Given the description of an element on the screen output the (x, y) to click on. 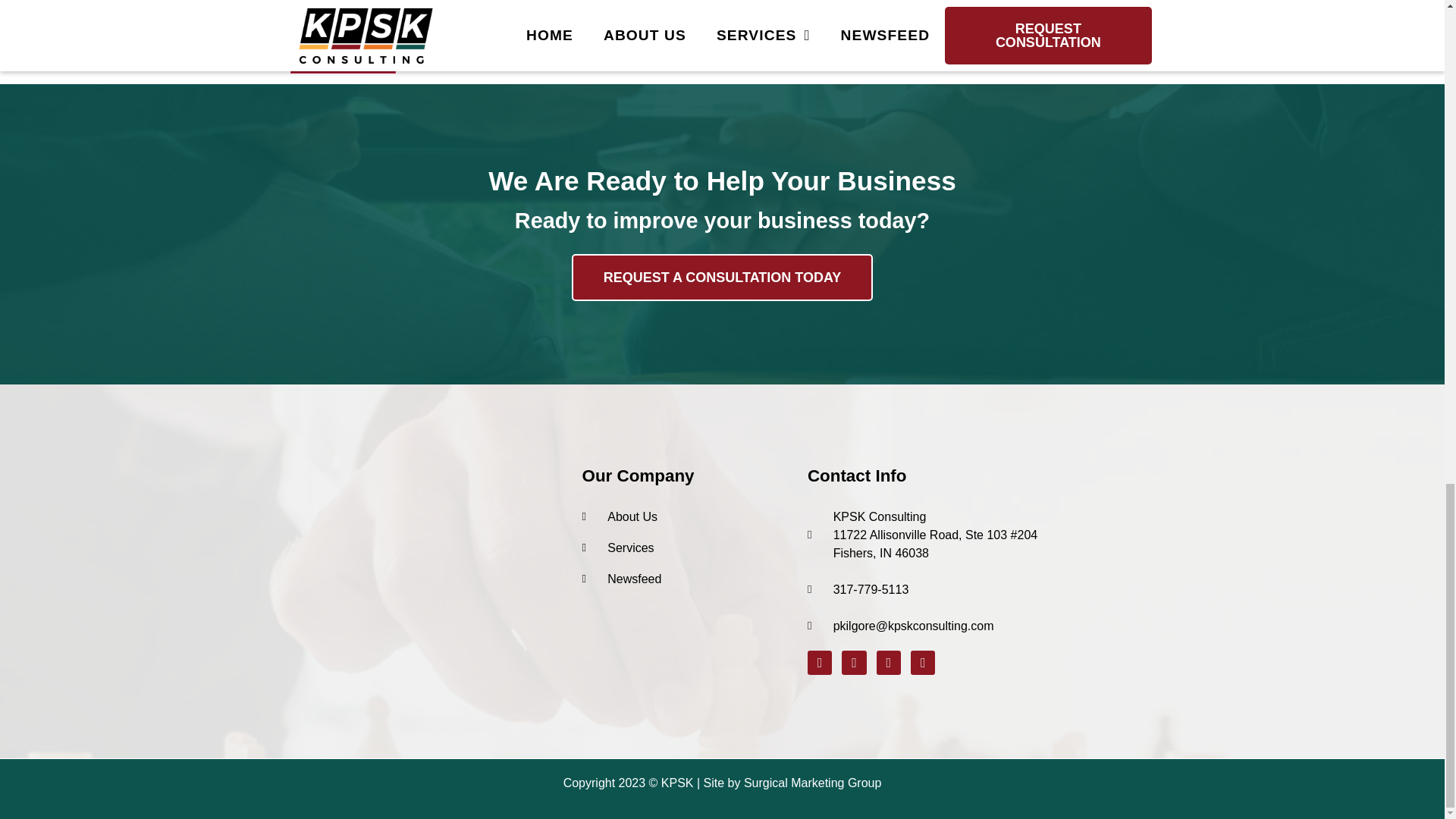
Post Comment (342, 57)
yes (294, 20)
